Given the description of an element on the screen output the (x, y) to click on. 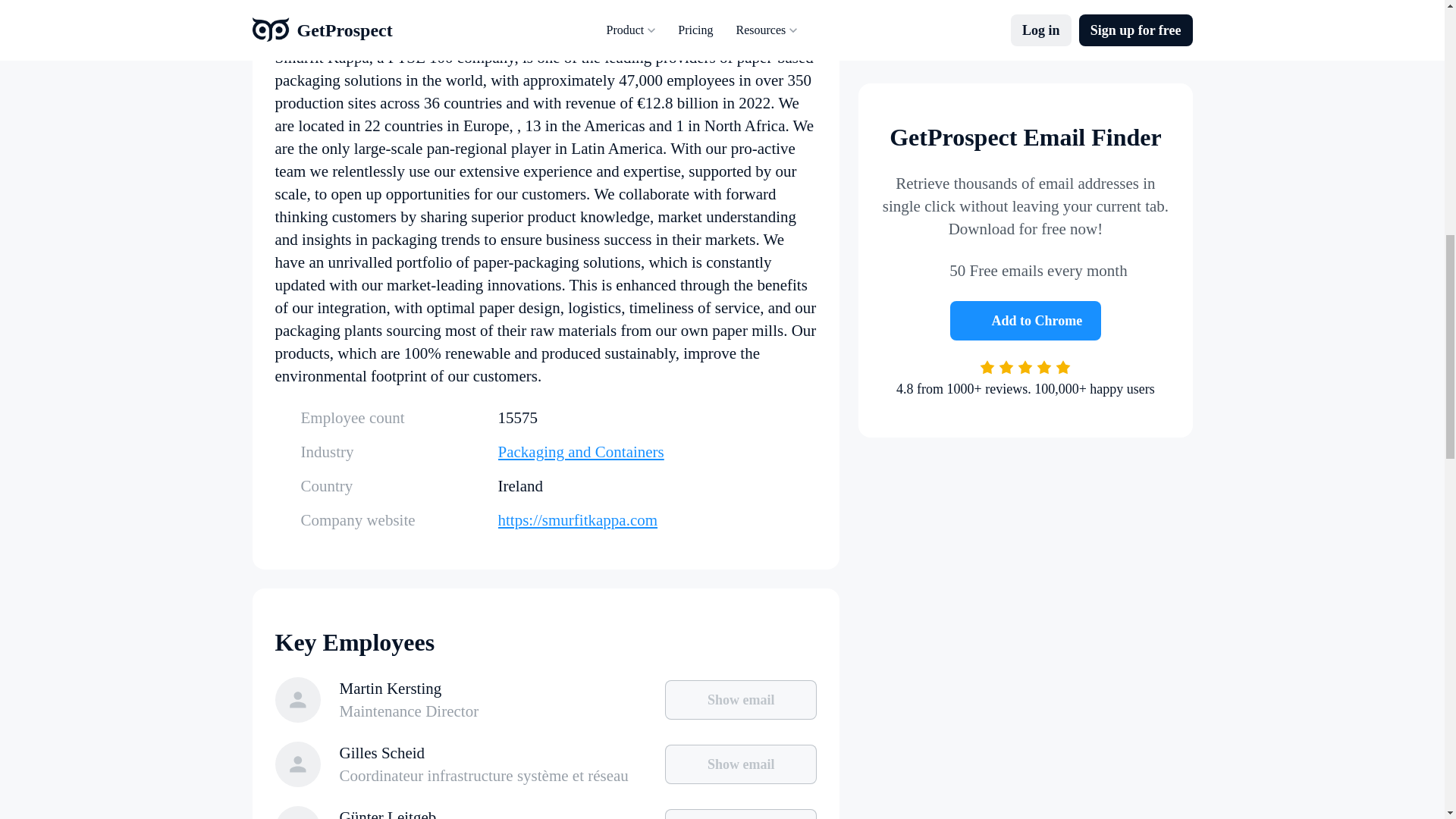
Packaging and Containers (656, 451)
Show email (740, 699)
Add to Chrome (1026, 194)
Show email (740, 763)
Show email (740, 814)
